Given the description of an element on the screen output the (x, y) to click on. 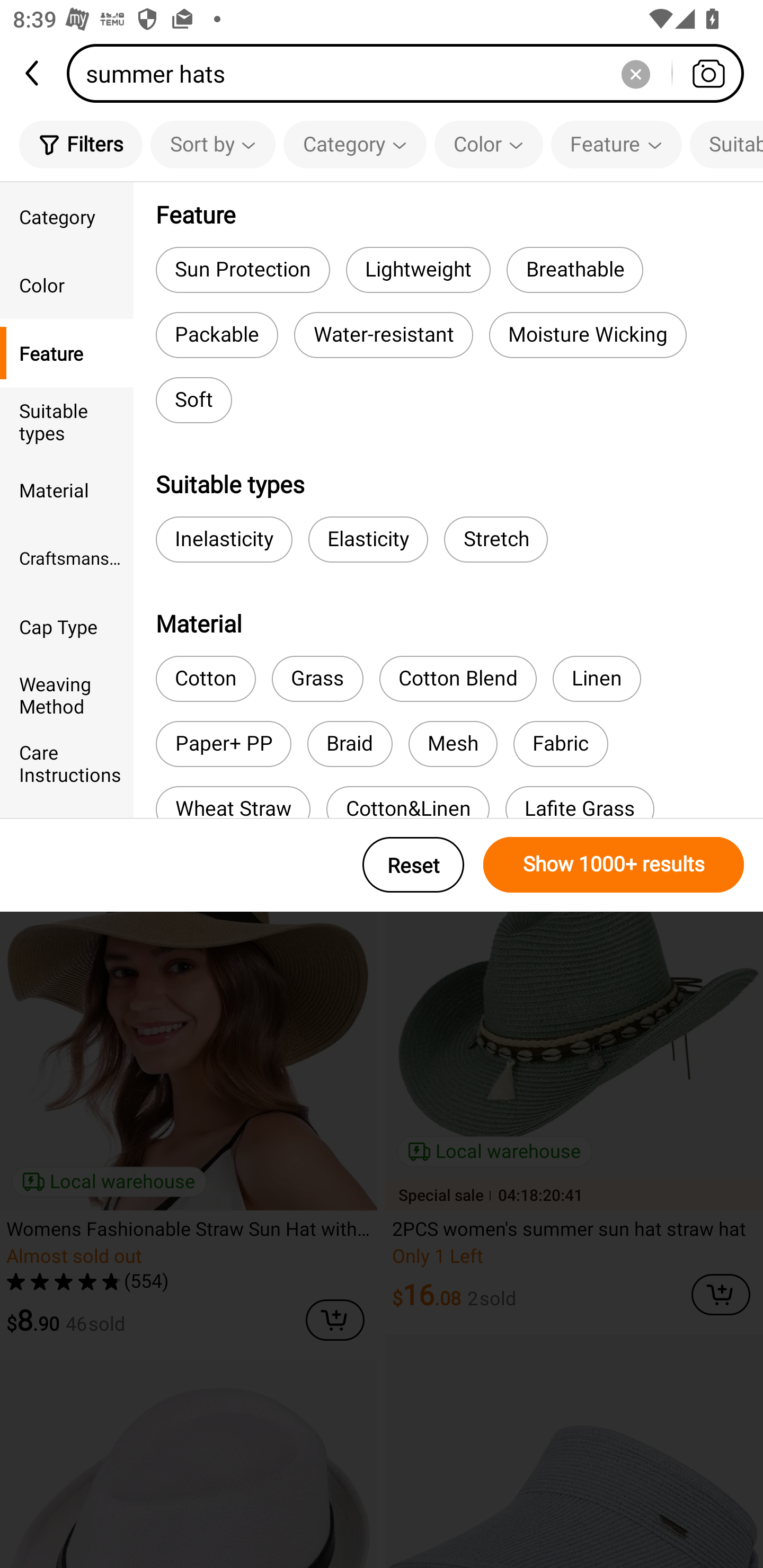
back (33, 72)
summer hats (411, 73)
Delete search history (635, 73)
Search by photo (708, 73)
Filters (80, 143)
Sort by (212, 143)
Category (354, 143)
Color (488, 143)
Feature (616, 143)
Suitable types (726, 143)
Category (66, 215)
Sun Protection (242, 269)
Lightweight (417, 269)
Breathable (574, 269)
Color (66, 284)
Packable (216, 334)
Water-resistant (383, 334)
Moisture Wicking (587, 334)
Feature (66, 352)
Soft (193, 400)
Suitable types (66, 421)
Material (66, 489)
Inelasticity (223, 538)
Elasticity (368, 538)
Stretch (495, 538)
Craftsmanship (66, 557)
Cap Type (66, 626)
Cotton (205, 678)
Grass (317, 678)
Cotton Blend (457, 678)
Linen (596, 678)
Weaving Method (66, 694)
Paper+ PP (223, 743)
Braid (349, 743)
Mesh (452, 743)
Fabric (560, 743)
Care Instructions (66, 762)
Wheat Straw (232, 801)
Cotton&Linen (407, 801)
Lafite Grass (579, 801)
Reset (412, 864)
Show 1000+ results (612, 864)
